Given the description of an element on the screen output the (x, y) to click on. 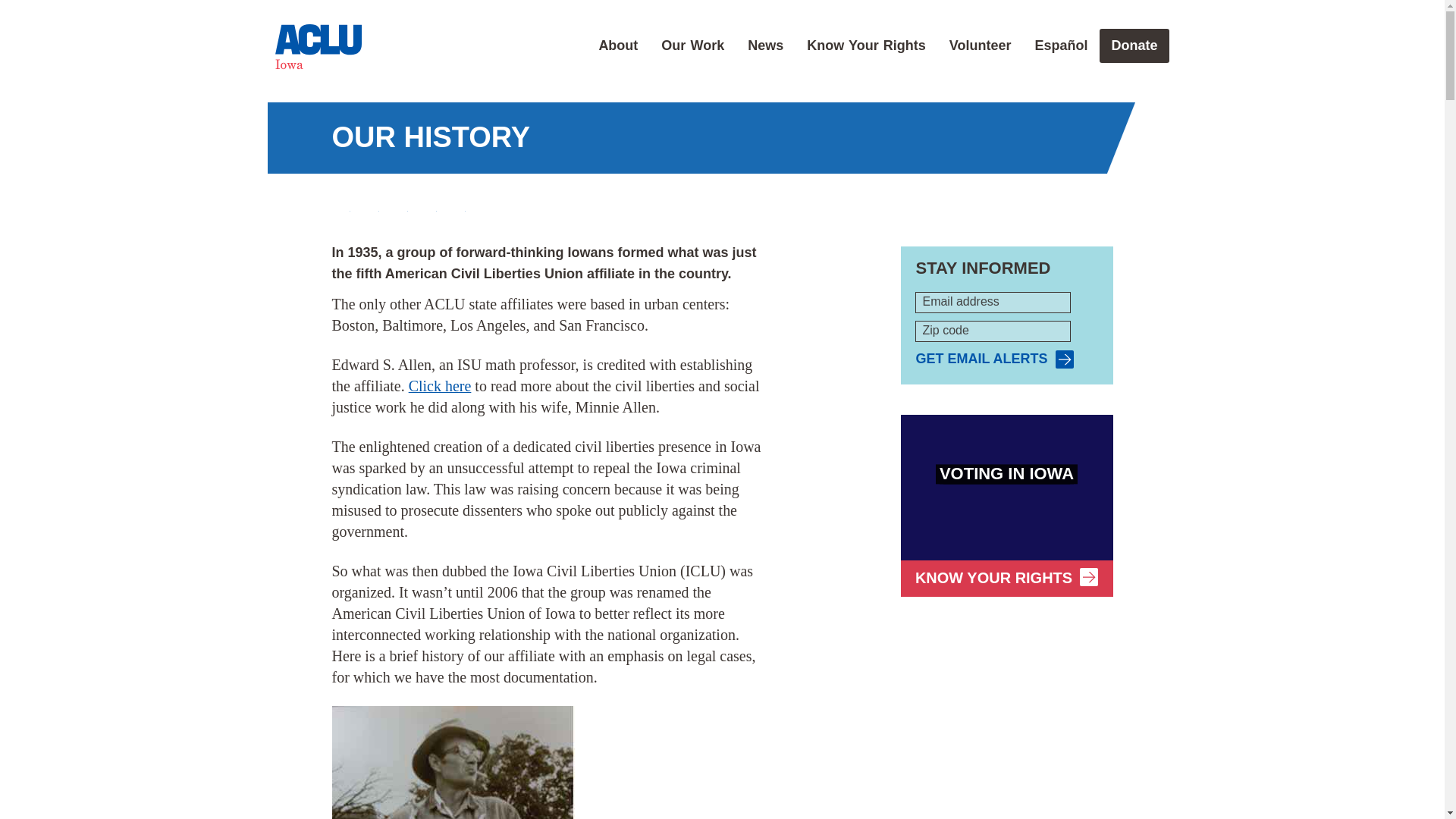
Get email alerts (994, 359)
Facebook (340, 203)
Zip code (992, 331)
ACLU of Iowa - logo (318, 46)
Email address (992, 301)
Submit this to Reddit (398, 203)
Submit this to Facebook (340, 203)
Twitter (369, 203)
About (617, 45)
Submit this to Twitter (369, 203)
